Given the description of an element on the screen output the (x, y) to click on. 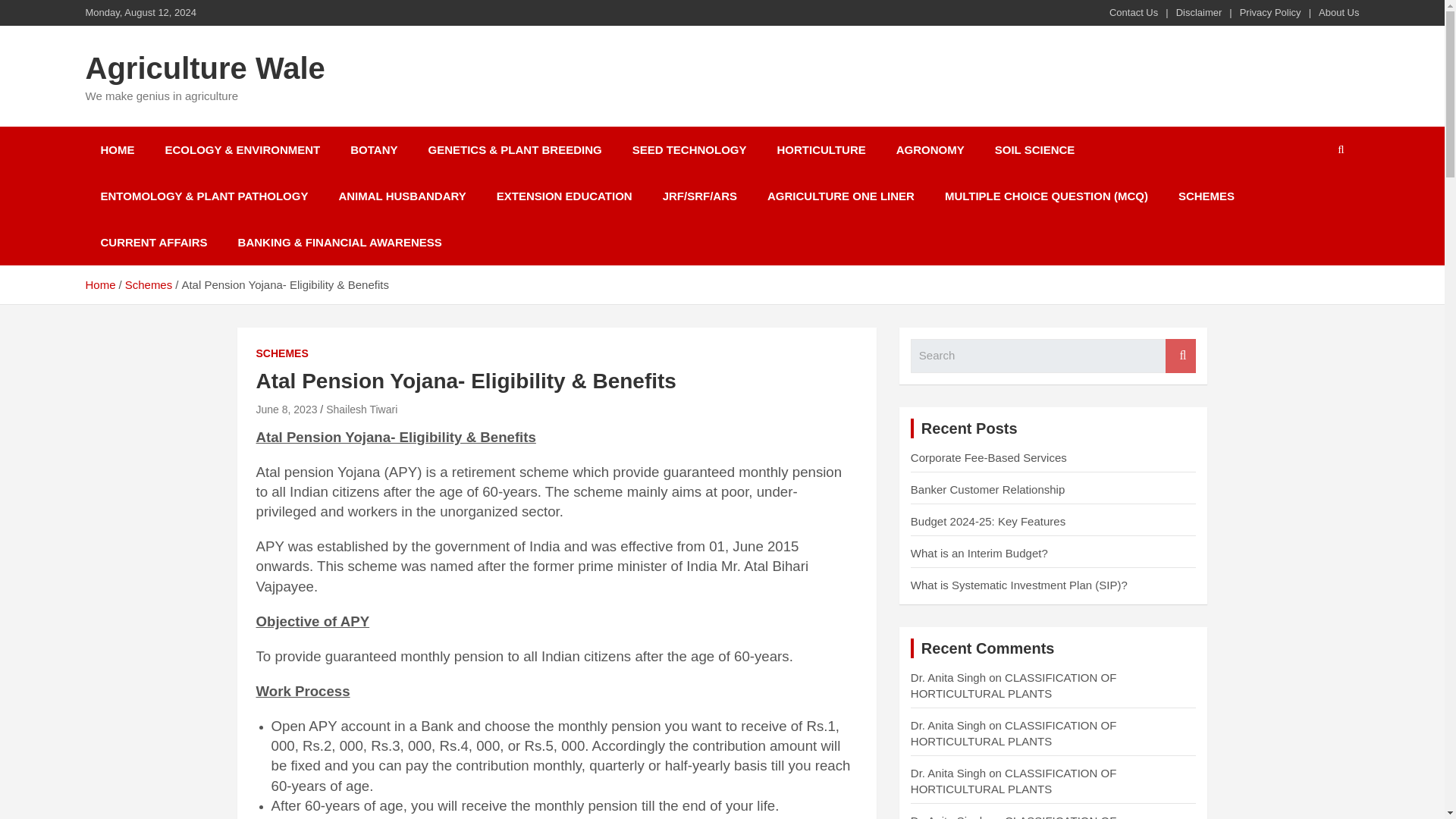
HORTICULTURE (820, 149)
Disclaimer (1199, 12)
Shailesh Tiwari (361, 409)
SCHEMES (1206, 195)
EXTENSION EDUCATION (564, 195)
Contact Us (1133, 12)
SEED TECHNOLOGY (689, 149)
About Us (1338, 12)
AGRICULTURE ONE LINER (841, 195)
BOTANY (373, 149)
